Given the description of an element on the screen output the (x, y) to click on. 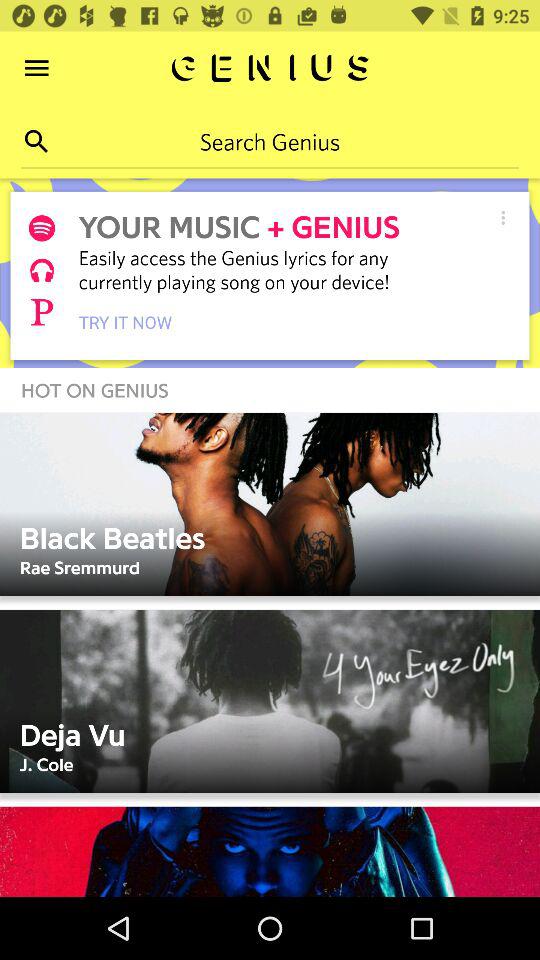
open the item to the right of + genius icon (502, 217)
